Given the description of an element on the screen output the (x, y) to click on. 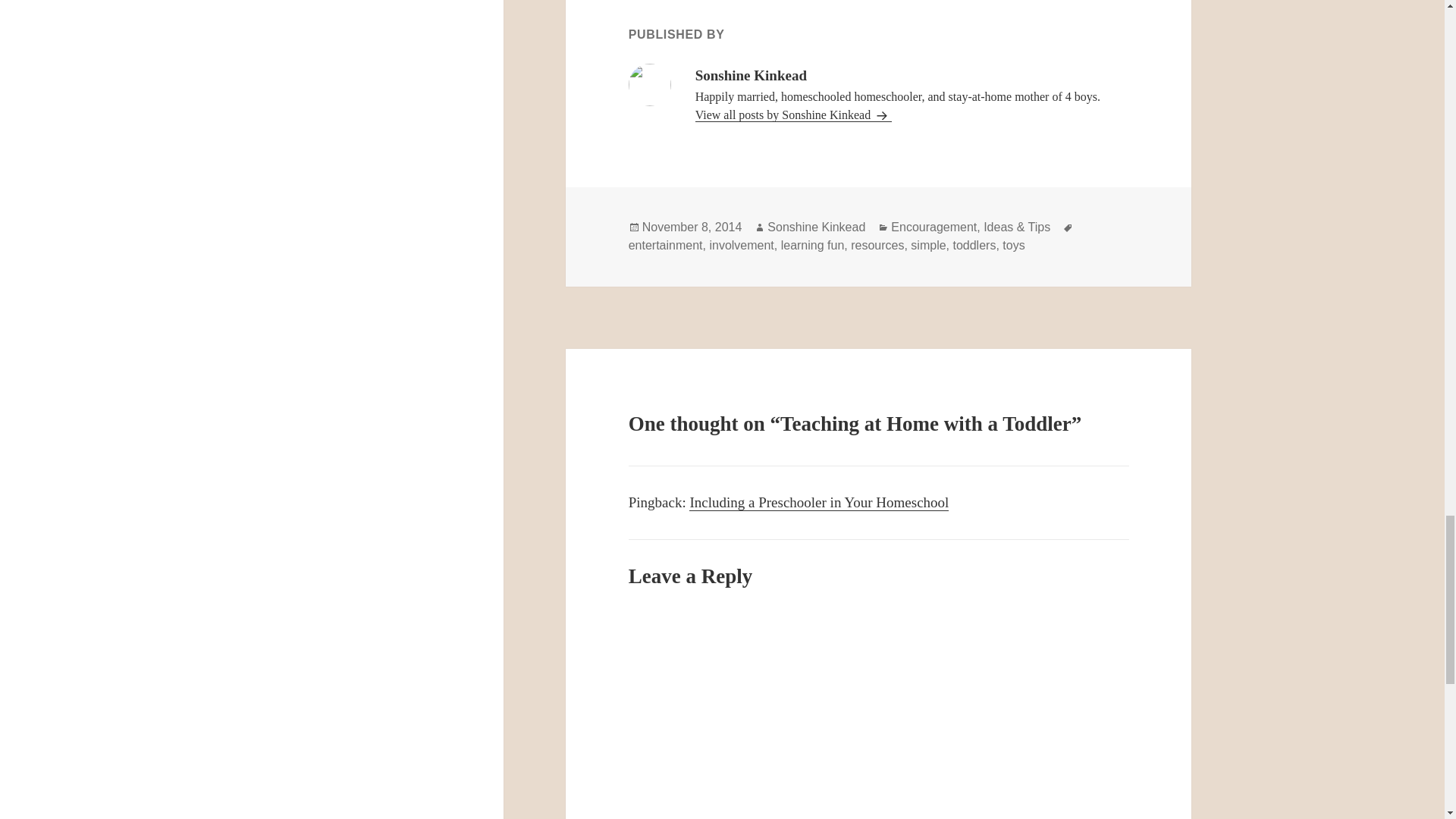
learning fun (812, 245)
November 8, 2014 (692, 227)
Sonshine Kinkead (815, 227)
toys (1014, 245)
toddlers (973, 245)
simple (927, 245)
resources (877, 245)
involvement (741, 245)
View all posts by Sonshine Kinkead (793, 115)
entertainment (665, 245)
Encouragement (933, 227)
Including a Preschooler in Your Homeschool (818, 502)
